Given the description of an element on the screen output the (x, y) to click on. 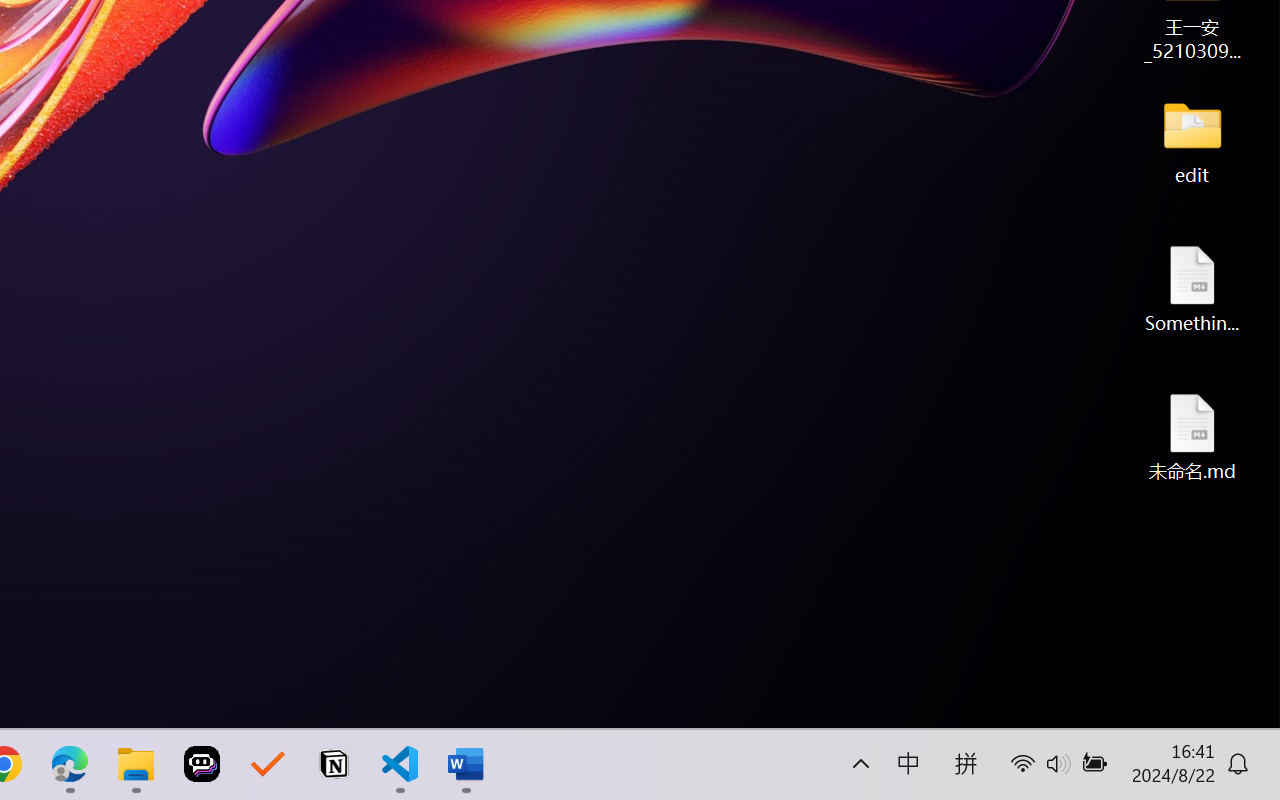
Something.md (1192, 288)
